Given the description of an element on the screen output the (x, y) to click on. 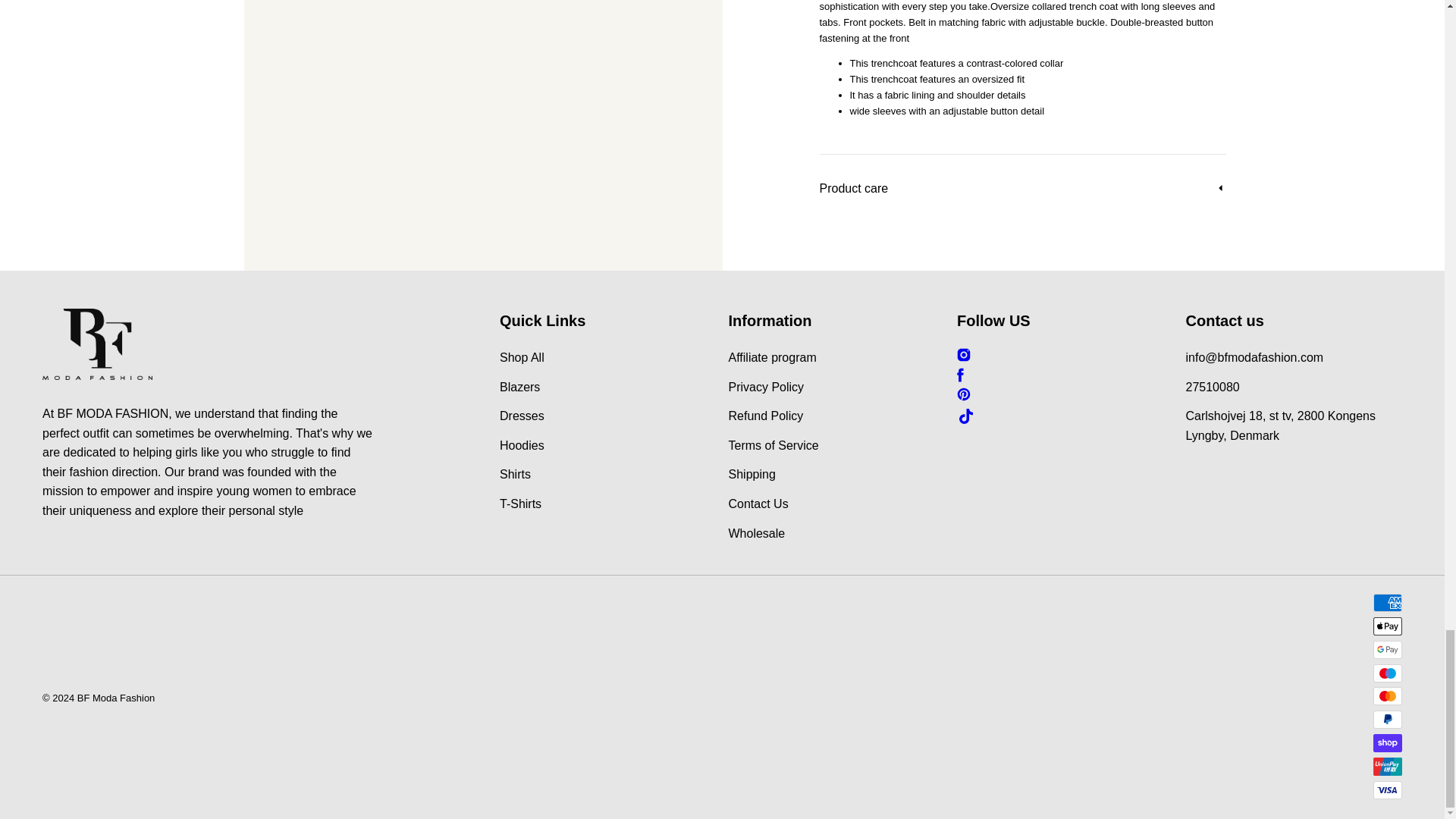
Maestro (1387, 673)
Mastercard (1387, 696)
Apple Pay (1387, 626)
Google Pay (1387, 649)
American Express (1387, 602)
